Given the description of an element on the screen output the (x, y) to click on. 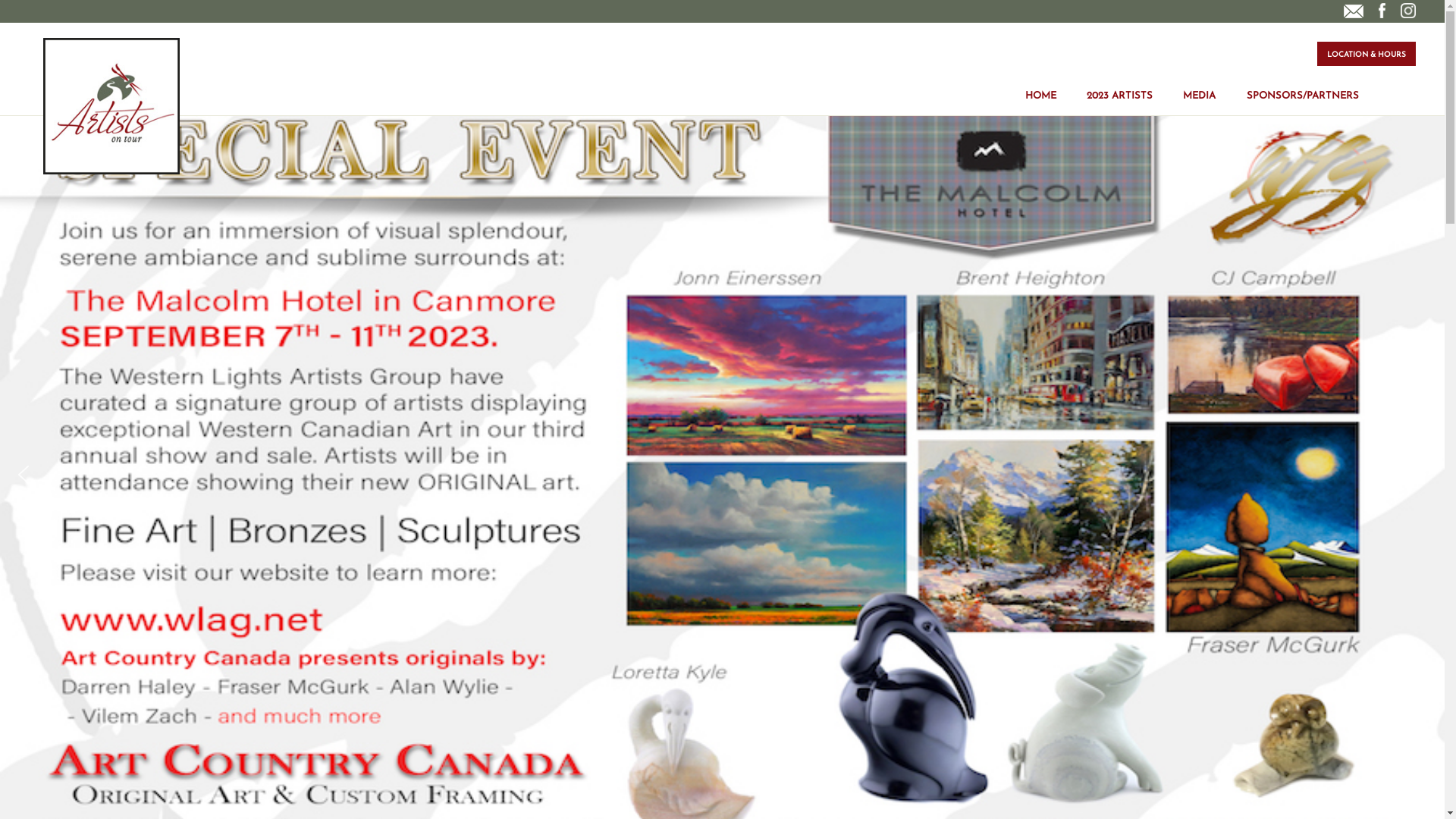
LOCATION & HOURS Element type: text (1366, 53)
2023 ARTISTS Element type: text (1119, 84)
HOME Element type: text (1040, 84)
Artists On Tour Element type: hover (111, 105)
MEDIA Element type: text (1199, 84)
SPONSORS/PARTNERS Element type: text (1302, 84)
